Given the description of an element on the screen output the (x, y) to click on. 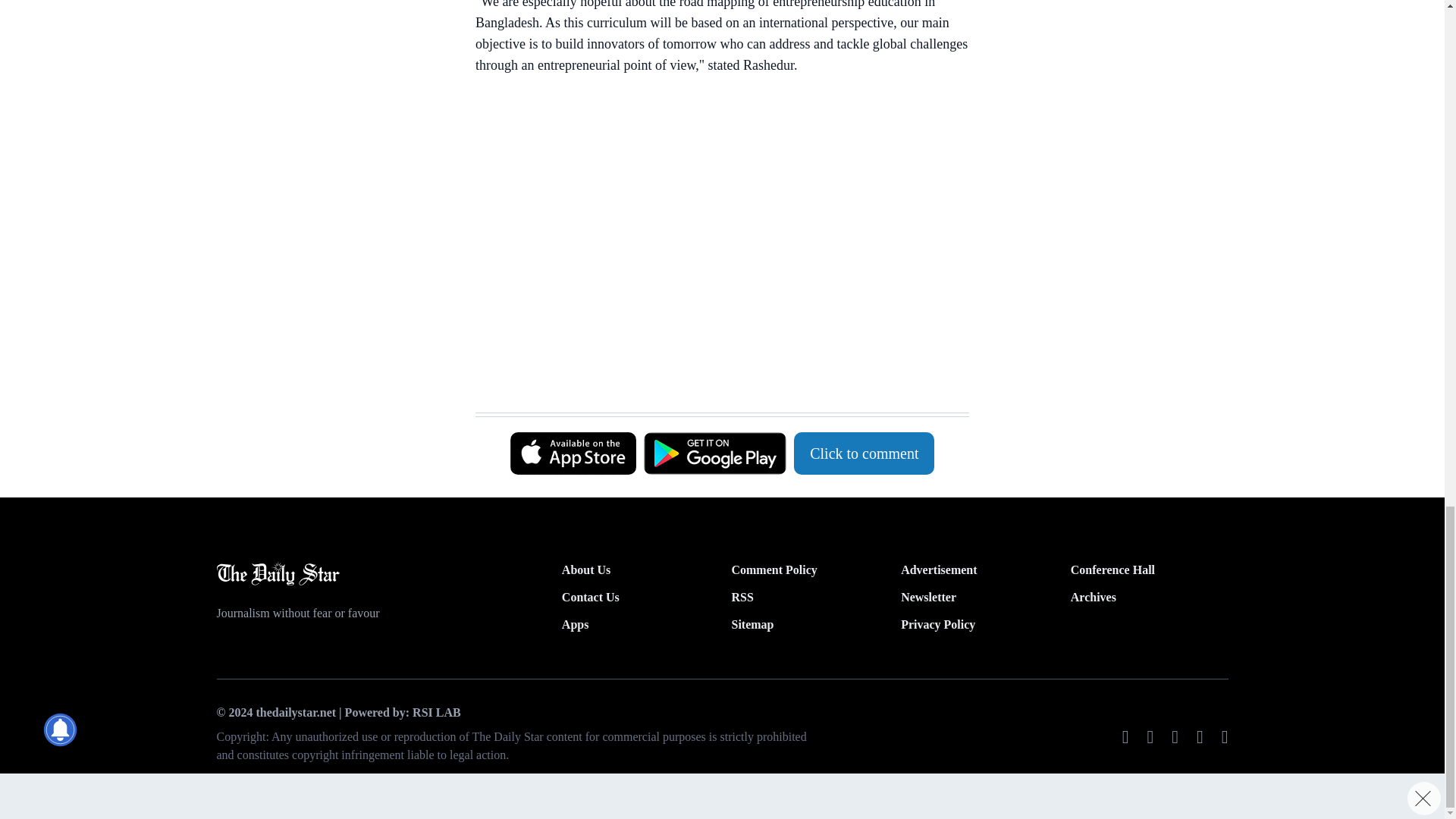
3rd party ad content (714, 374)
3rd party ad content (713, 234)
